Given the description of an element on the screen output the (x, y) to click on. 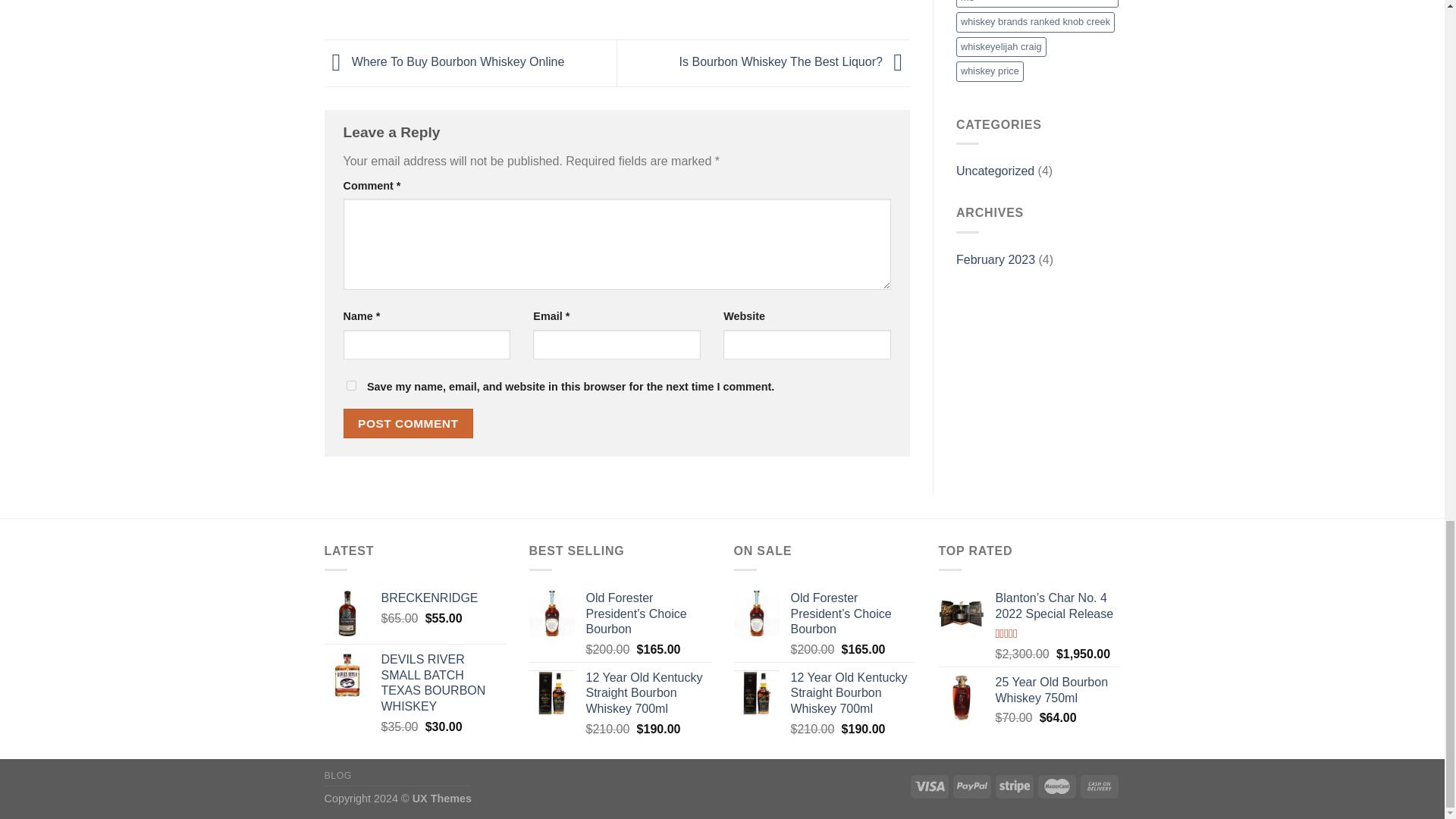
yes (350, 385)
Post Comment (407, 423)
